Given the description of an element on the screen output the (x, y) to click on. 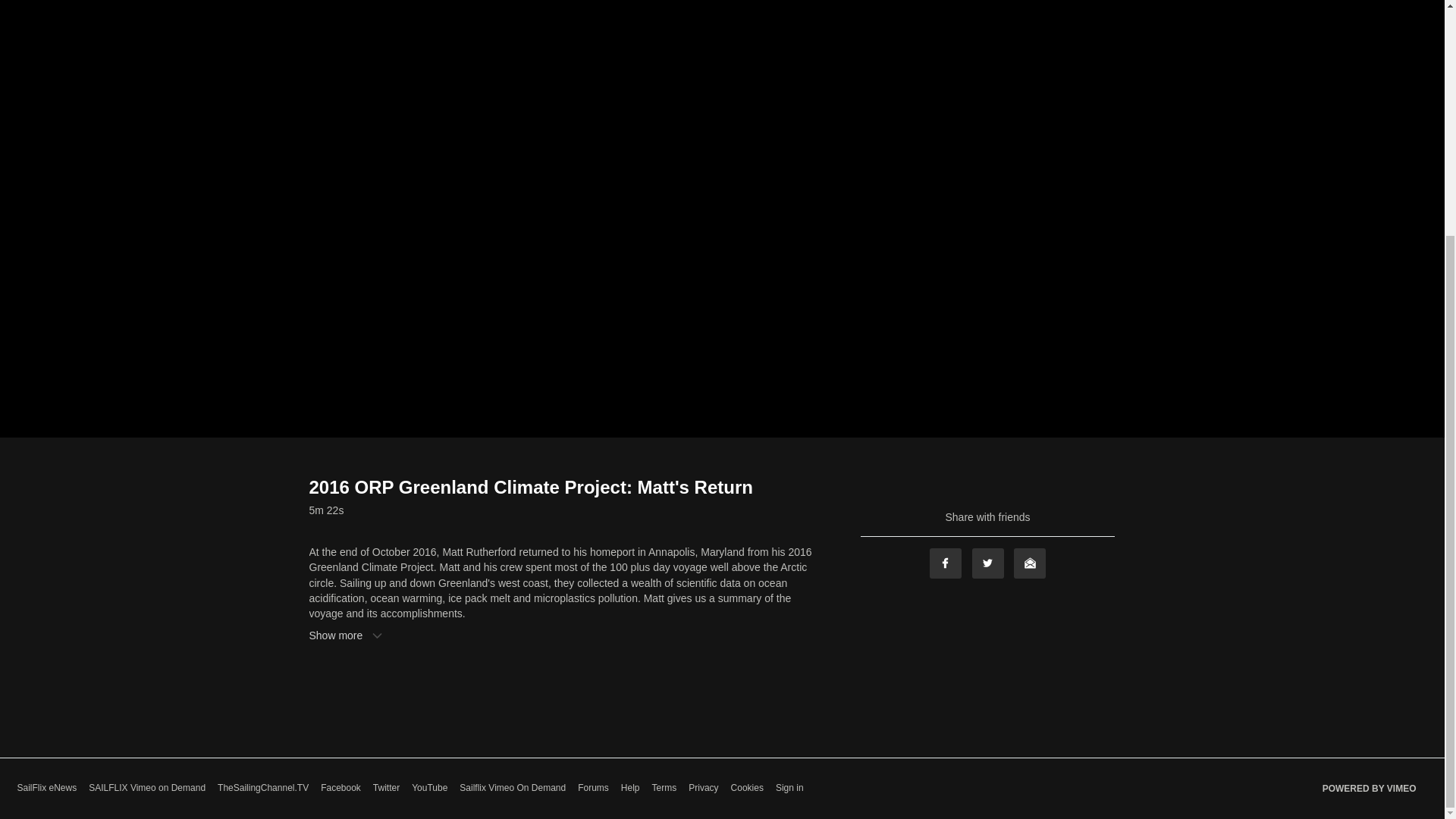
YouTube (429, 788)
SailFlix eNews (46, 788)
Sailflix Vimeo On Demand (513, 788)
Facebook (945, 562)
Twitter (988, 562)
TheSailingChannel.TV (262, 788)
SAILFLIX Vimeo on Demand (146, 788)
Twitter (385, 788)
Facebook (340, 788)
Email (1029, 562)
Forums (593, 788)
Help (630, 788)
